Given the description of an element on the screen output the (x, y) to click on. 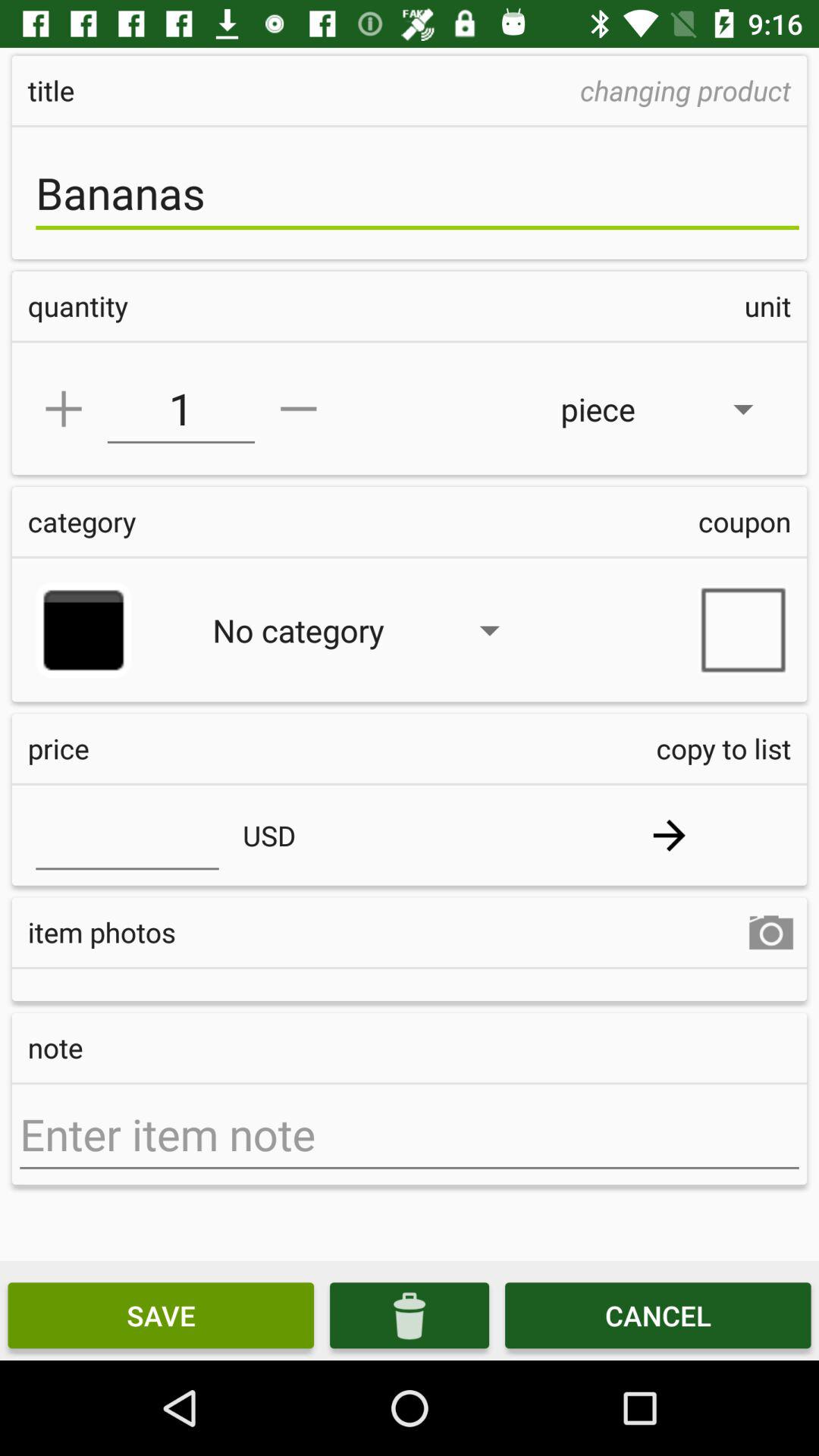
swipe to cancel (658, 1315)
